Given the description of an element on the screen output the (x, y) to click on. 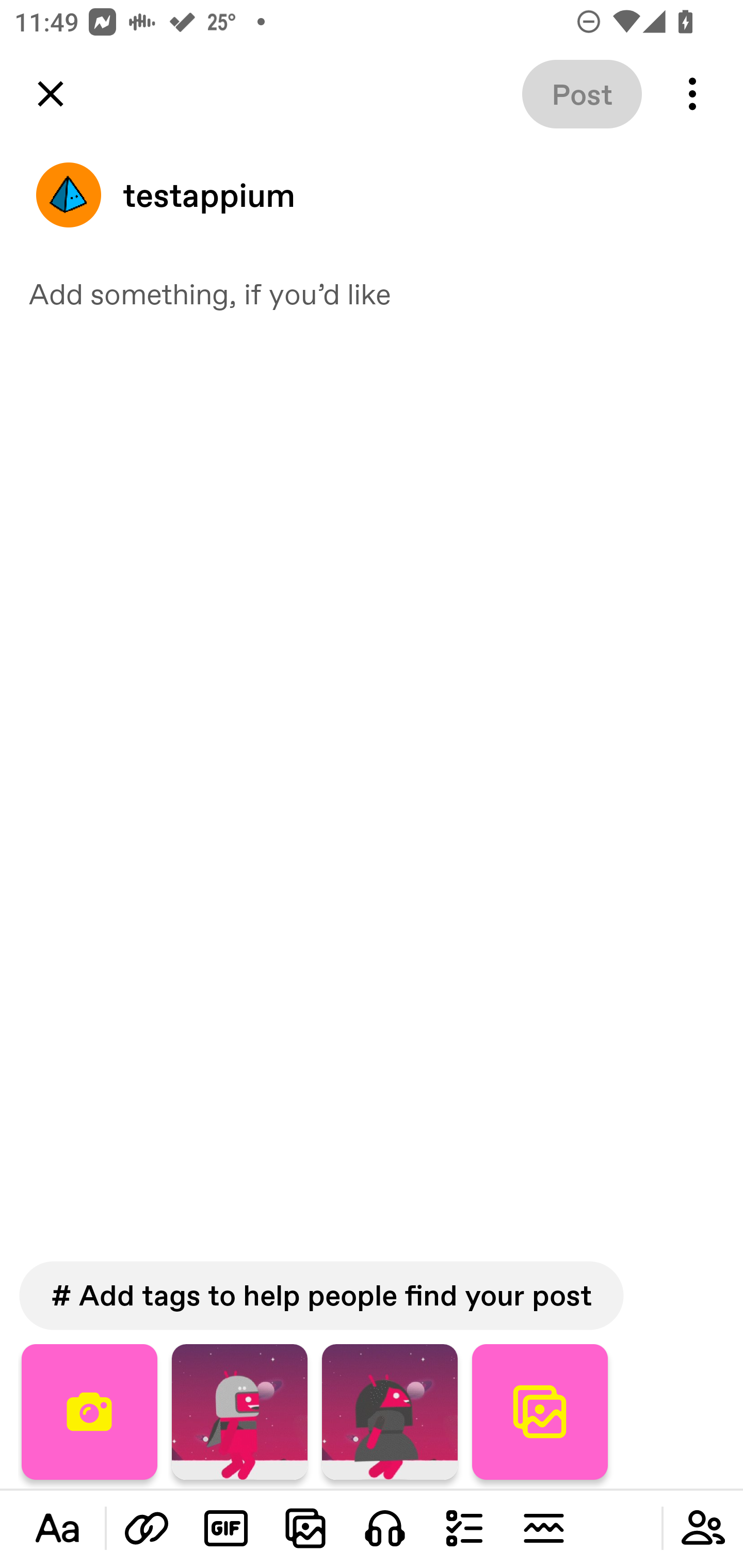
Navigate up (50, 93)
Post (581, 93)
Blog Selector testappium (371, 195)
Add something, if you’d like (371, 293)
# Add tags to help people find your post (320, 1295)
Photo (239, 1411)
Photo (389, 1411)
Add text to post (57, 1528)
Add text to post (146, 1528)
Add GIF to post (225, 1528)
Add Photo to post (305, 1528)
Add Audio to post (384, 1528)
Add Poll to post (463, 1528)
Add read-more link to post (543, 1528)
Add community label for post (703, 1528)
